Given the description of an element on the screen output the (x, y) to click on. 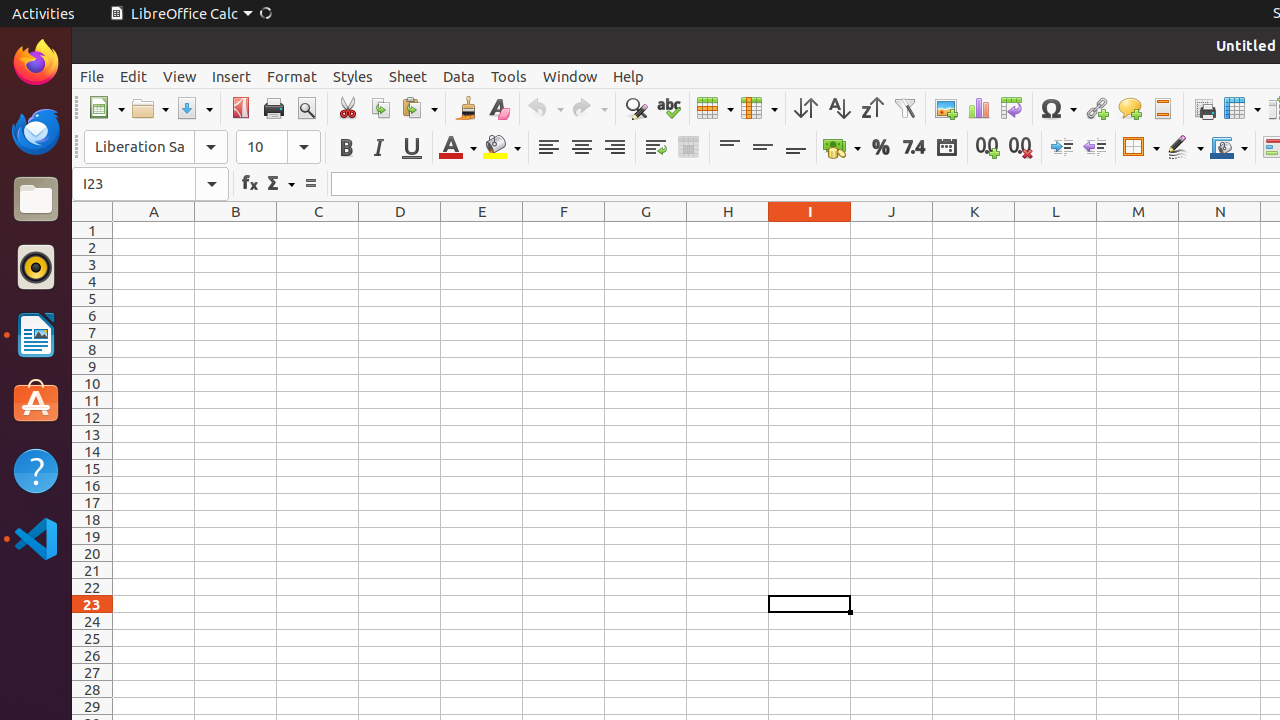
Hyperlink Element type: toggle-button (1096, 108)
IsaHelpMain.desktop Element type: label (133, 300)
B1 Element type: table-cell (236, 230)
Align Bottom Element type: push-button (795, 147)
Row Element type: push-button (715, 108)
